Given the description of an element on the screen output the (x, y) to click on. 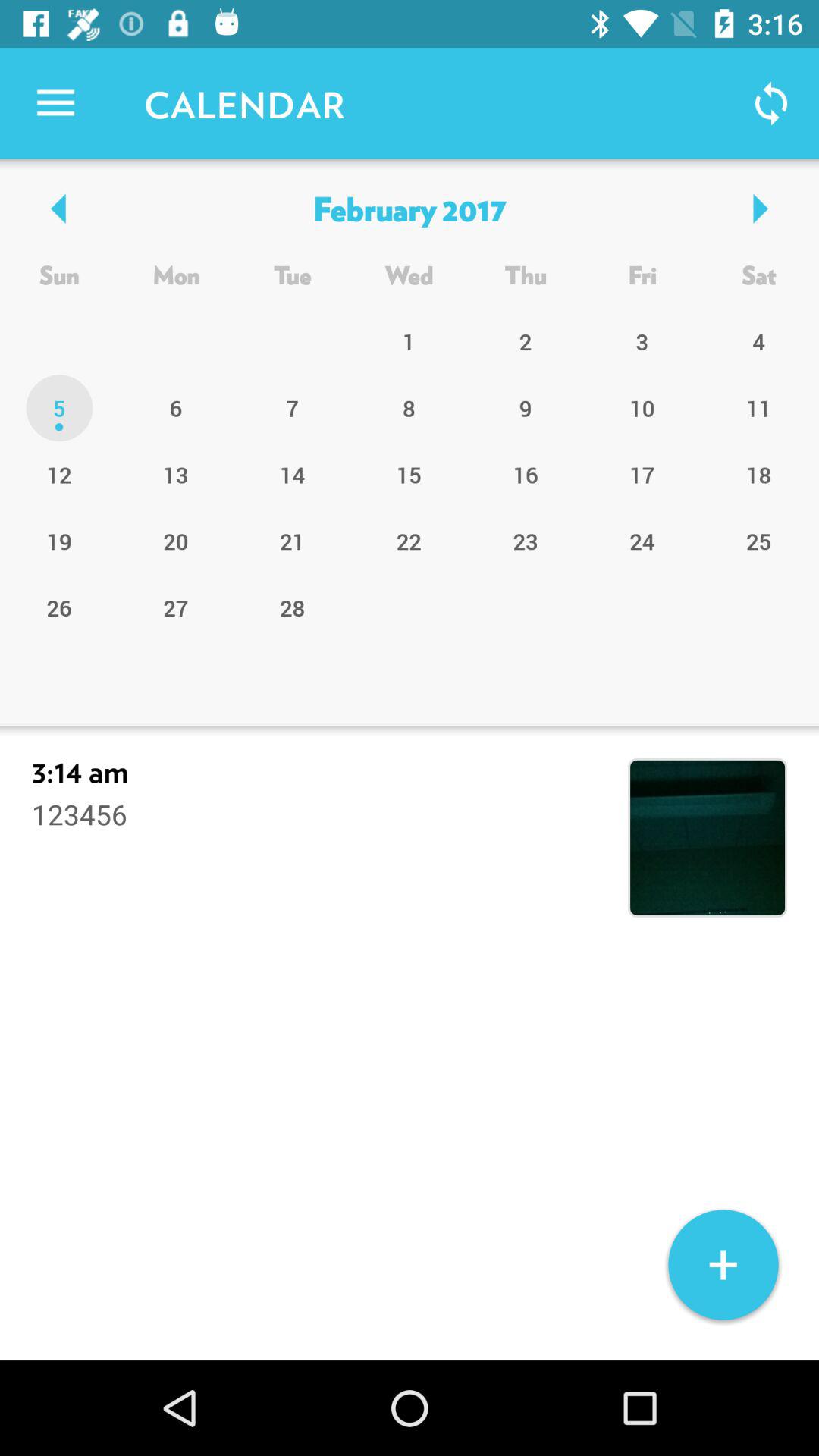
turn off the item to the left of 20 item (59, 607)
